Given the description of an element on the screen output the (x, y) to click on. 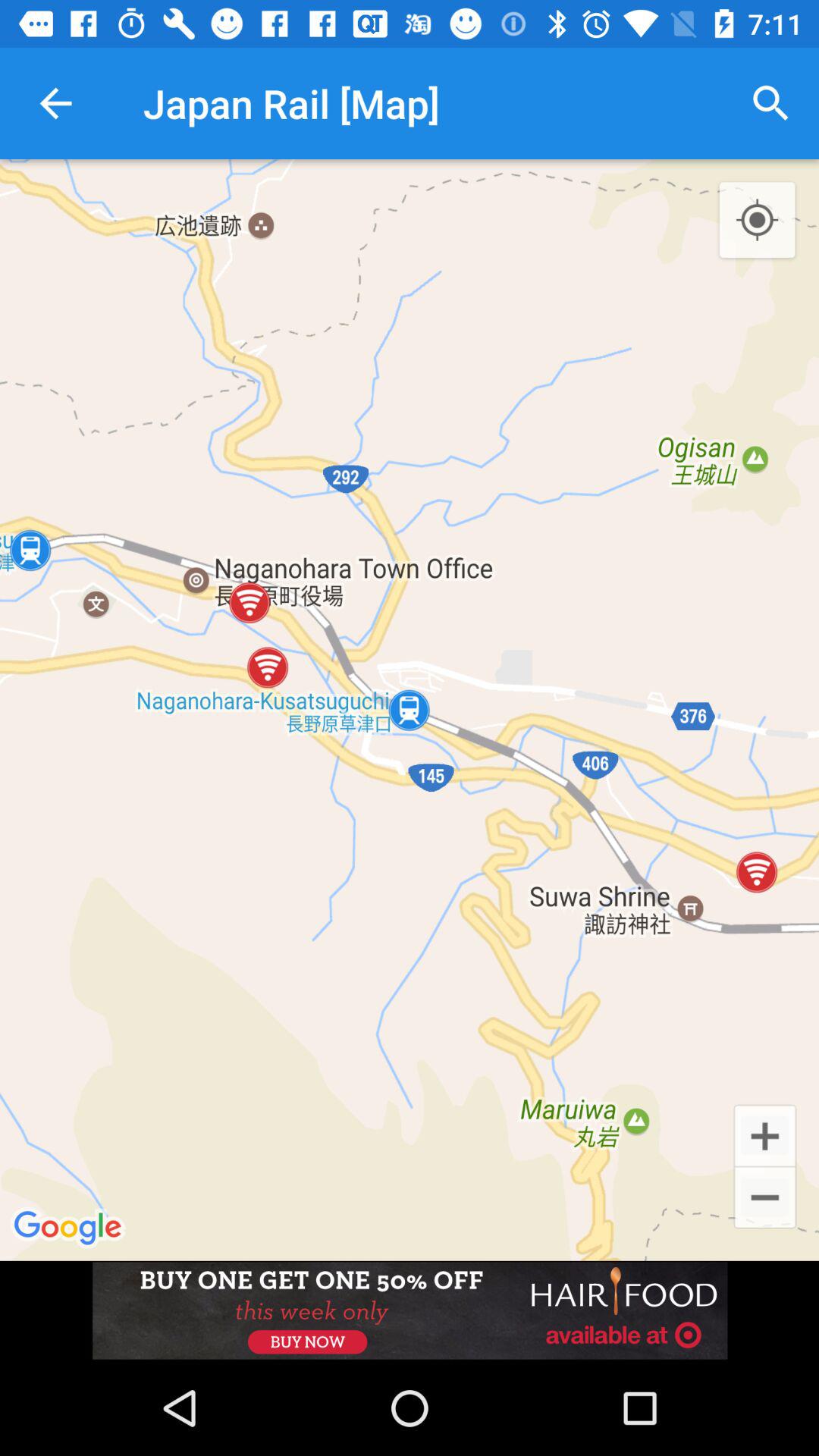
zoom in (764, 1134)
